Given the description of an element on the screen output the (x, y) to click on. 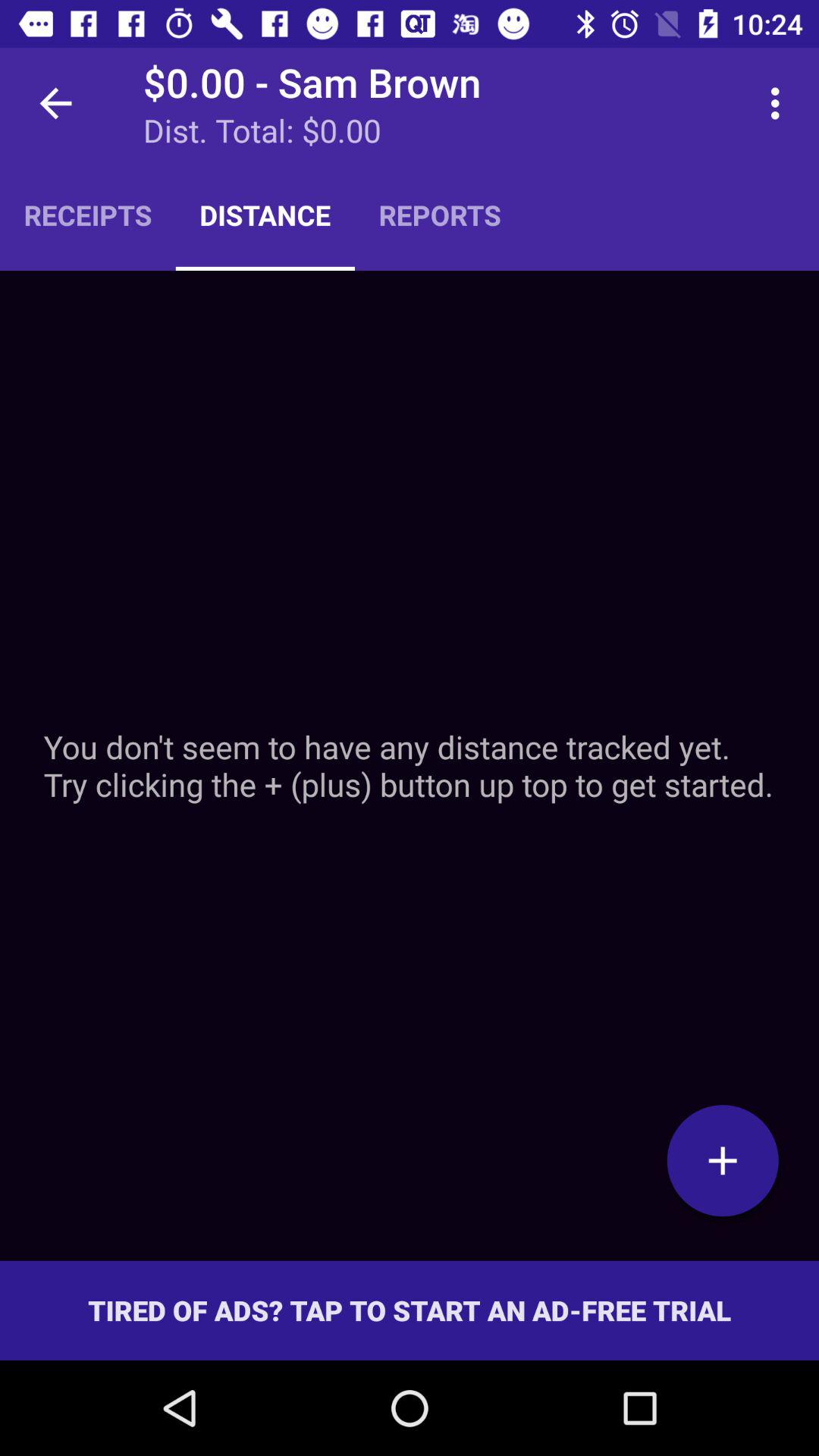
turn on the icon above the tired of ads item (722, 1160)
